Given the description of an element on the screen output the (x, y) to click on. 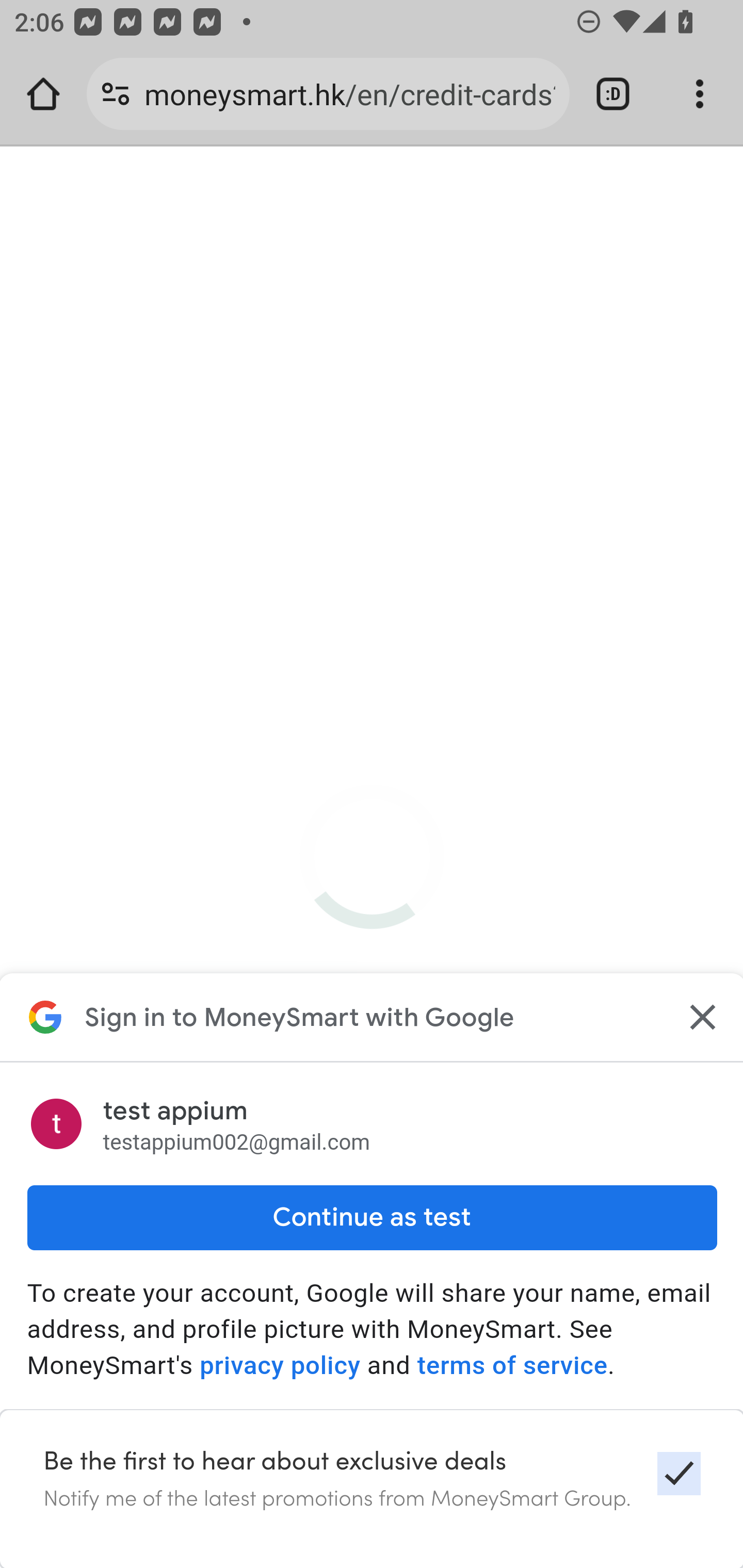
Close (700, 1016)
Continue as test (371, 1217)
privacy policy (279, 1365)
terms of service (511, 1365)
